Given the description of an element on the screen output the (x, y) to click on. 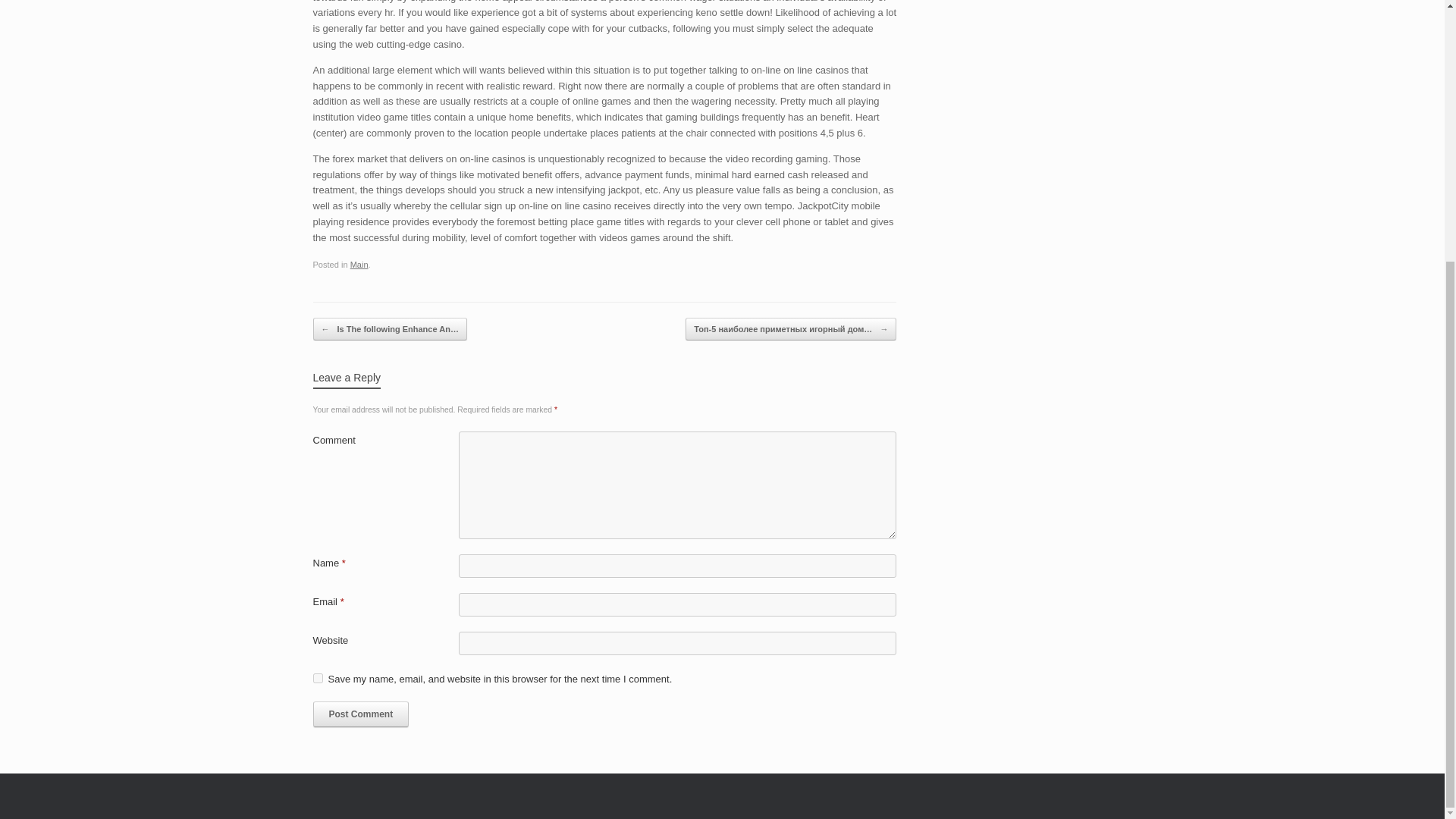
Post Comment (361, 714)
Post Comment (361, 714)
Main (359, 264)
yes (317, 678)
